Given the description of an element on the screen output the (x, y) to click on. 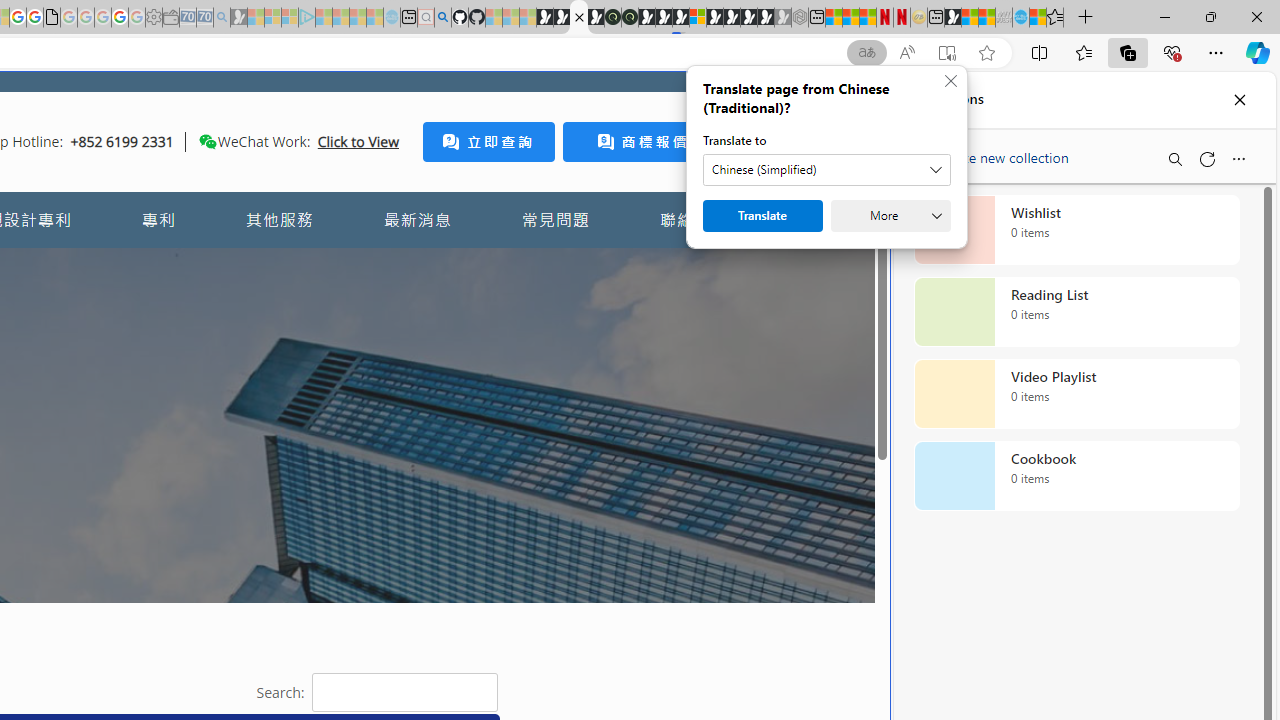
Video Playlist collection, 0 items (1076, 394)
Future Focus Report 2024 (629, 17)
Navy Quest (1003, 17)
Create new collection (994, 153)
Cheap Car Rentals - Save70.com - Sleeping (204, 17)
Class: desktop (207, 141)
Reading List collection, 0 items (1076, 312)
Play Cave FRVR in your browser | Games from Microsoft Start (343, 426)
